Given the description of an element on the screen output the (x, y) to click on. 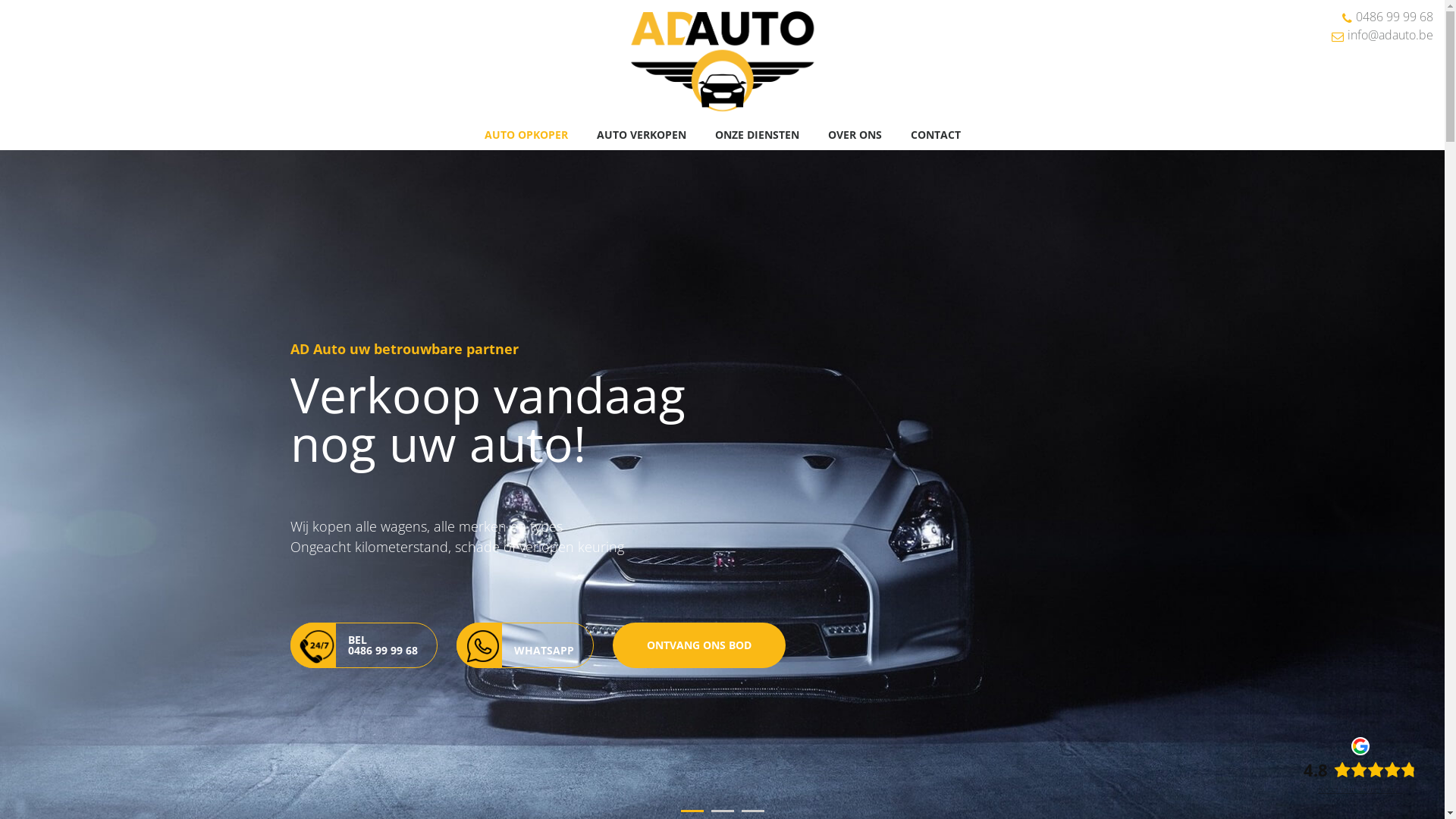
info@adauto.be Element type: text (1390, 34)
BEL
0486 99 99 68 Element type: text (362, 645)
0486 99 99 68 Element type: text (1394, 16)
ONTVANG ONS BOD Element type: text (698, 645)
OVER ONS Element type: text (854, 134)
AUTO OPKOPER Element type: text (525, 134)
CONTACT Element type: text (935, 134)
02 Element type: text (722, 810)
01 Element type: text (691, 810)
ONZE DIENSTEN Element type: text (756, 134)
03 Element type: text (752, 810)
AUTO VERKOPEN Element type: text (640, 134)
WHATSAPP Element type: text (524, 645)
